Given the description of an element on the screen output the (x, y) to click on. 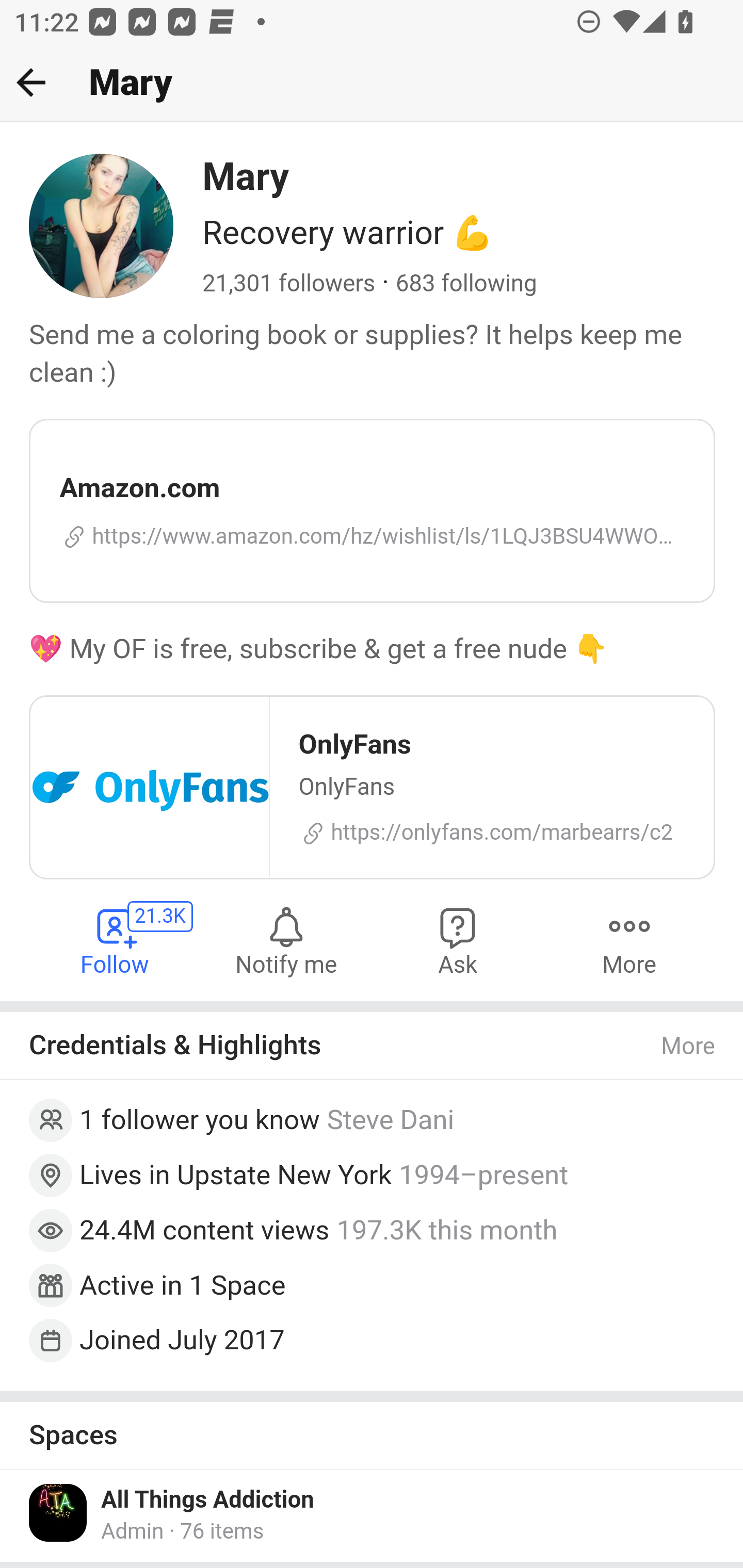
Back (30, 82)
Follow Mary 21.3K Follow (115, 940)
Notify me (285, 940)
Ask (458, 940)
More (628, 940)
More (688, 1047)
Icon for All Things Addiction (58, 1512)
All Things Addiction (208, 1501)
